Given the description of an element on the screen output the (x, y) to click on. 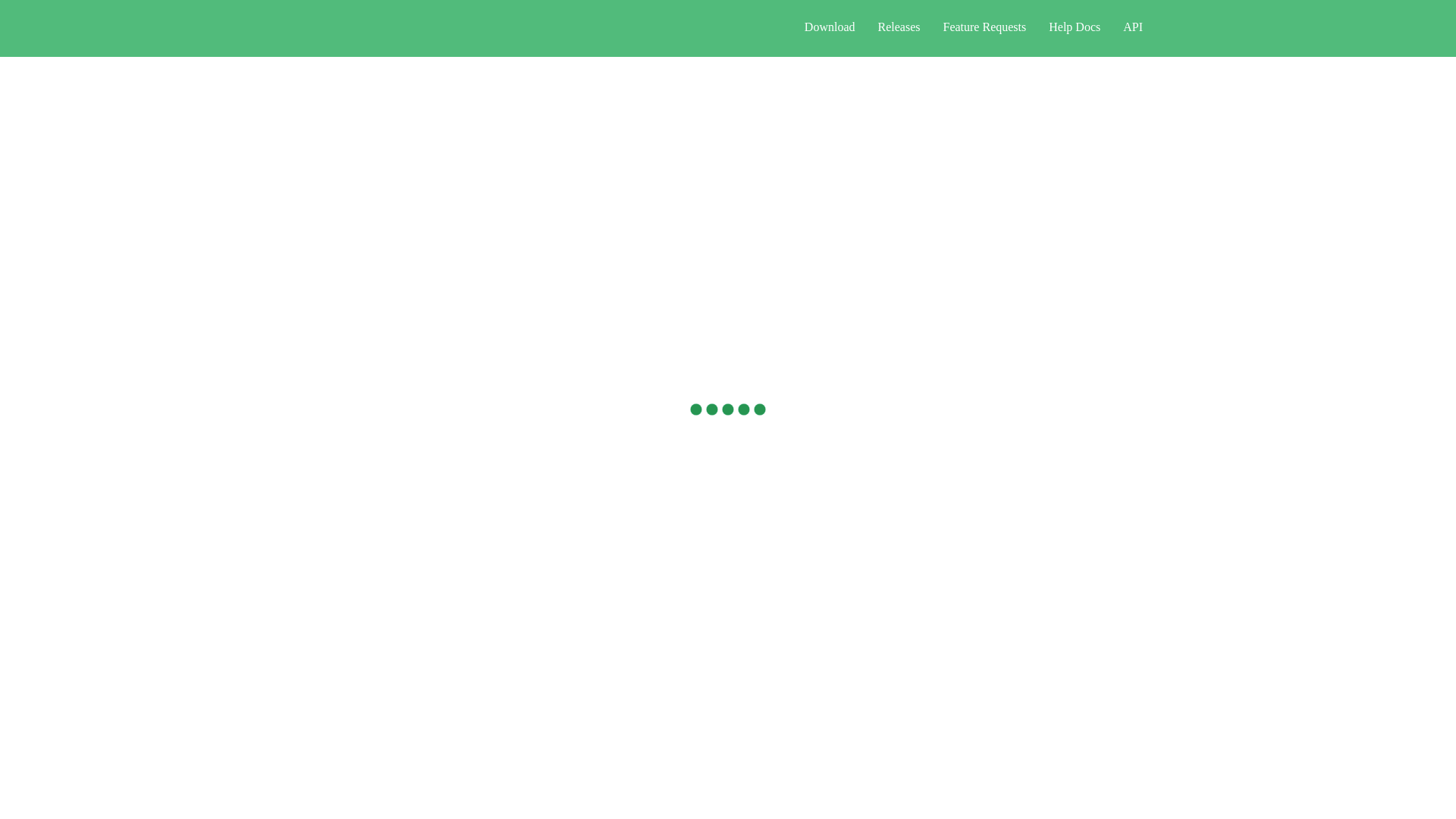
Releases (898, 26)
API (1132, 26)
Feature Requests (984, 26)
Help Docs (1074, 26)
Download (830, 26)
